Given the description of an element on the screen output the (x, y) to click on. 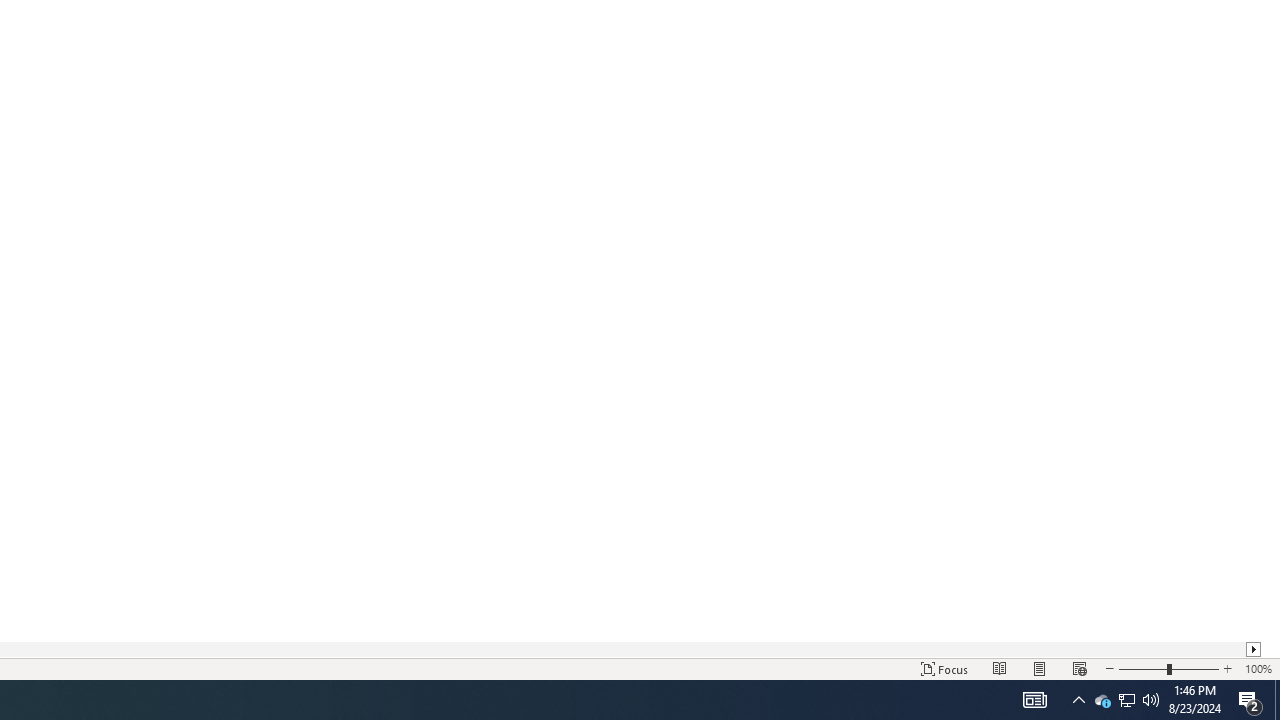
Notification Chevron (1078, 699)
